Given the description of an element on the screen output the (x, y) to click on. 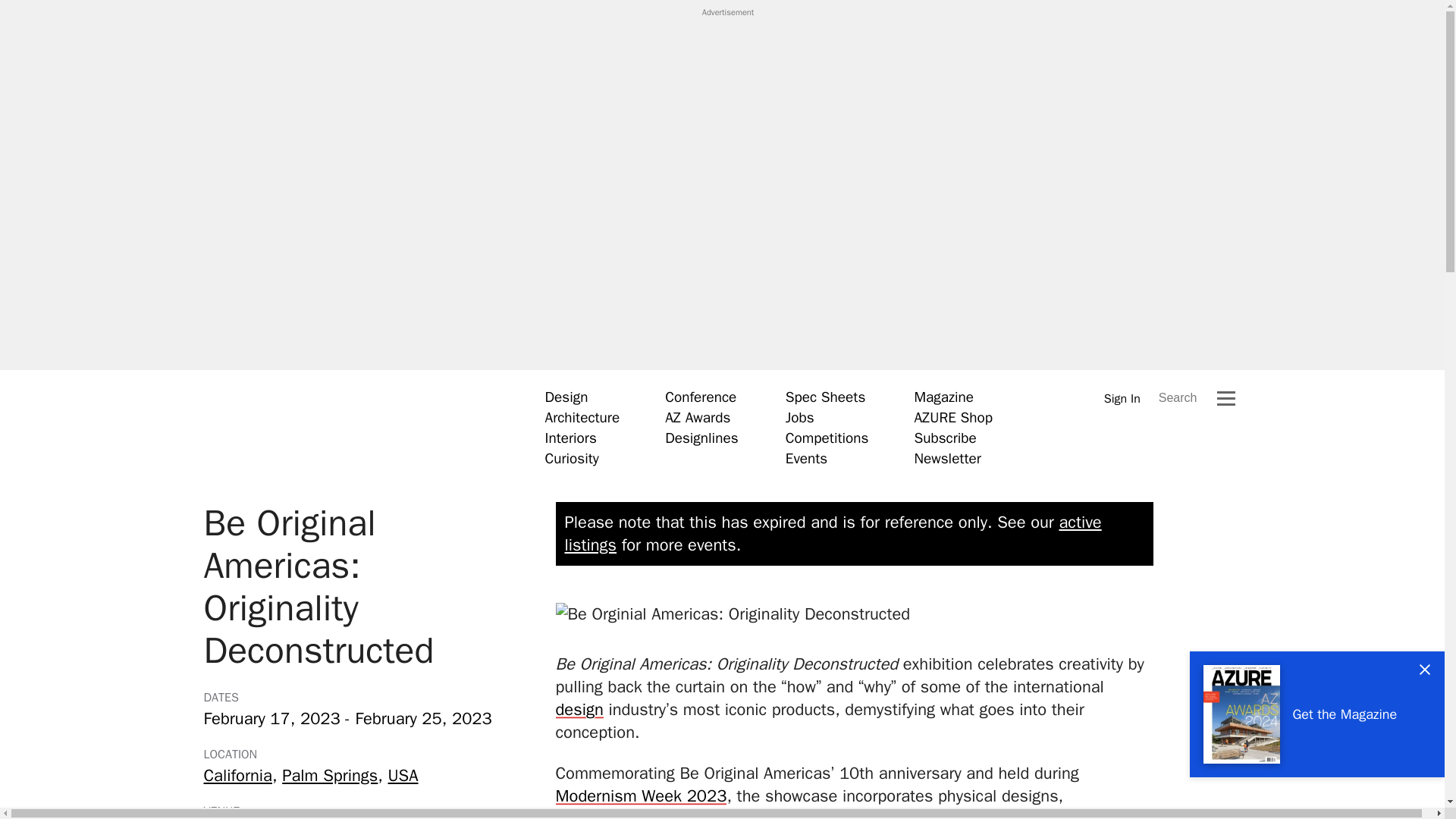
Spec Sheets (825, 397)
Sign In (1122, 398)
Design (566, 397)
Jobs (799, 417)
Interiors (569, 438)
Search (1178, 397)
Events (806, 458)
Subscribe (944, 438)
Newsletter (946, 458)
Architecture (582, 417)
